Given the description of an element on the screen output the (x, y) to click on. 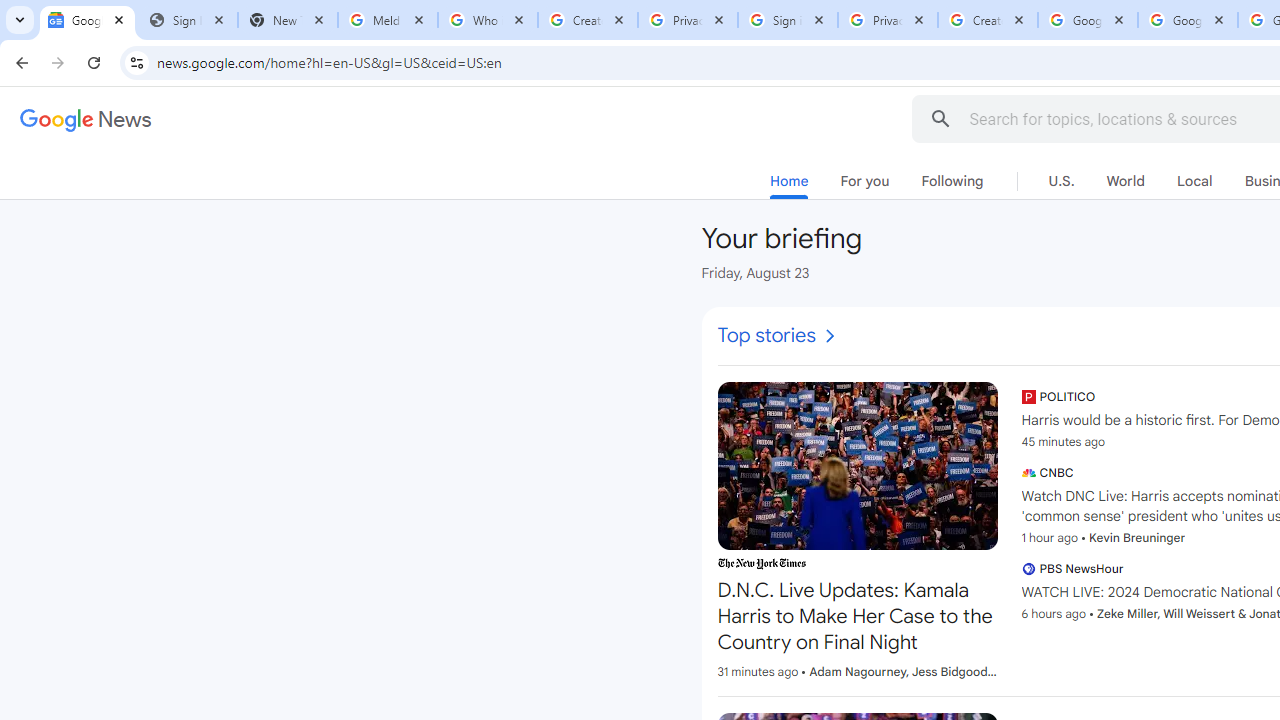
U.S. (1061, 181)
Who is my administrator? - Google Account Help (487, 20)
Following (952, 181)
Create your Google Account (587, 20)
For you (864, 181)
